Given the description of an element on the screen output the (x, y) to click on. 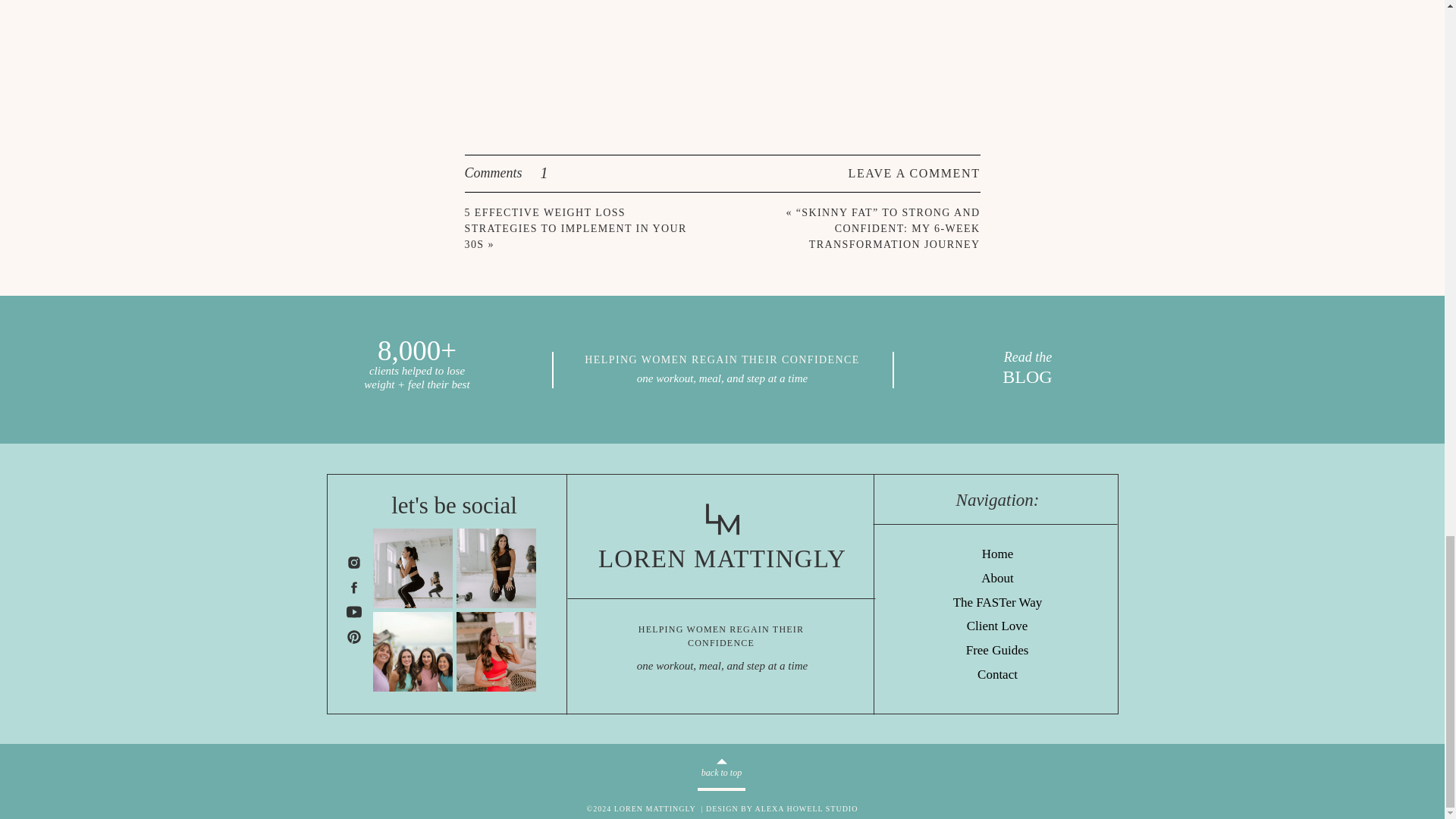
About (997, 579)
Contact (996, 674)
loren2 (496, 568)
5 EFFECTIVE WEIGHT LOSS STRATEGIES TO IMPLEMENT IN YOUR 30S (574, 228)
Home (997, 554)
Client Love (996, 626)
fw-conference-selling-8 (412, 651)
Free Guides (997, 651)
The FASTer Way (997, 602)
8W0A9856 (496, 651)
